Given the description of an element on the screen output the (x, y) to click on. 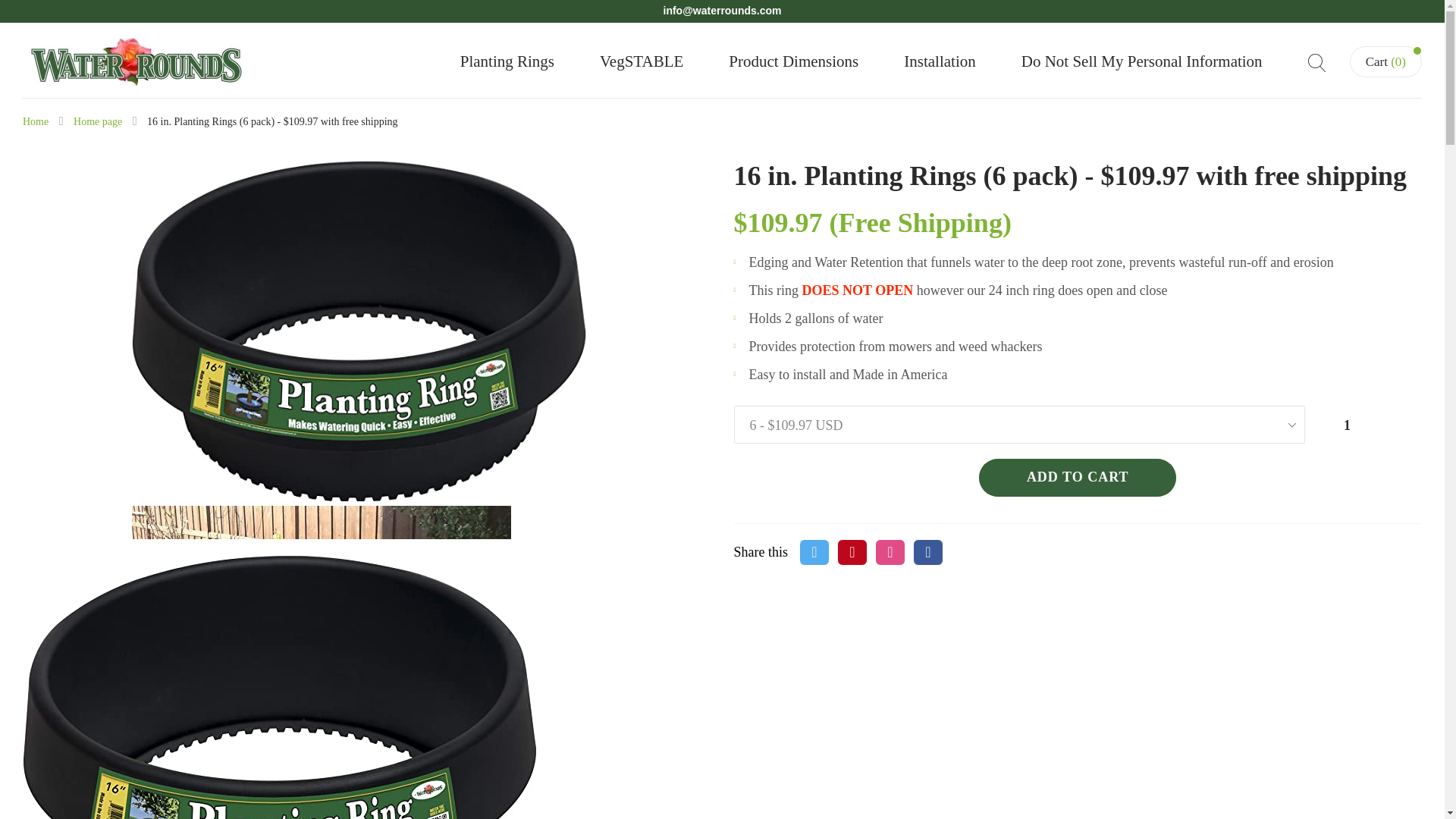
Planting Rings (507, 60)
Installation (939, 60)
Twitter (814, 551)
Home (35, 121)
Do Not Sell My Personal Information (1142, 60)
Facebook (927, 551)
Back to the frontpage (35, 121)
VegSTABLE (640, 60)
ADD TO CART (1077, 477)
Pinterest (852, 551)
Home page (98, 121)
Qty (1351, 424)
Product Dimensions (794, 60)
1 (1351, 424)
